Given the description of an element on the screen output the (x, y) to click on. 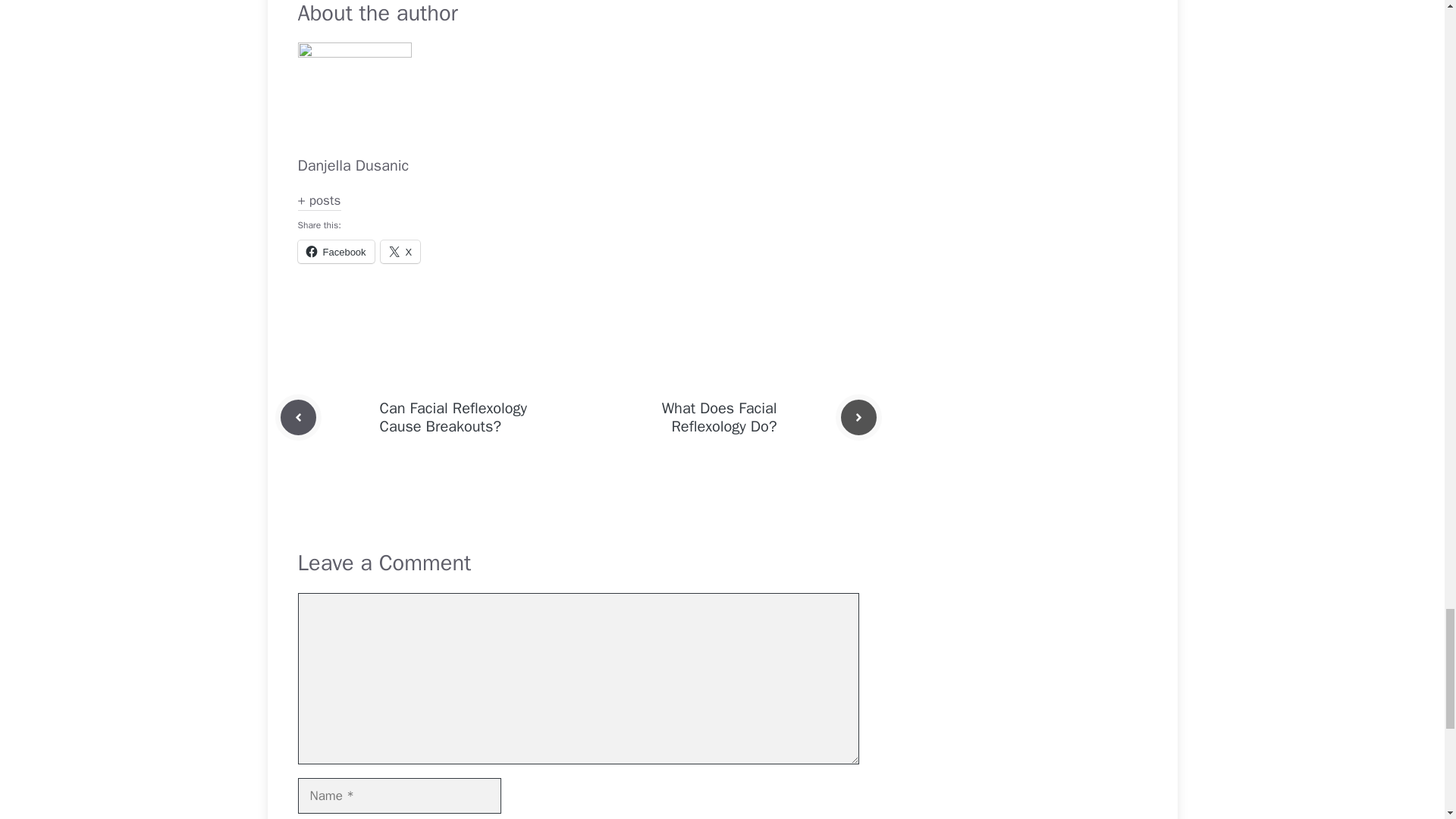
Danjella Dusanic (353, 165)
Click to share on Facebook (335, 251)
Click to share on X (400, 251)
